Given the description of an element on the screen output the (x, y) to click on. 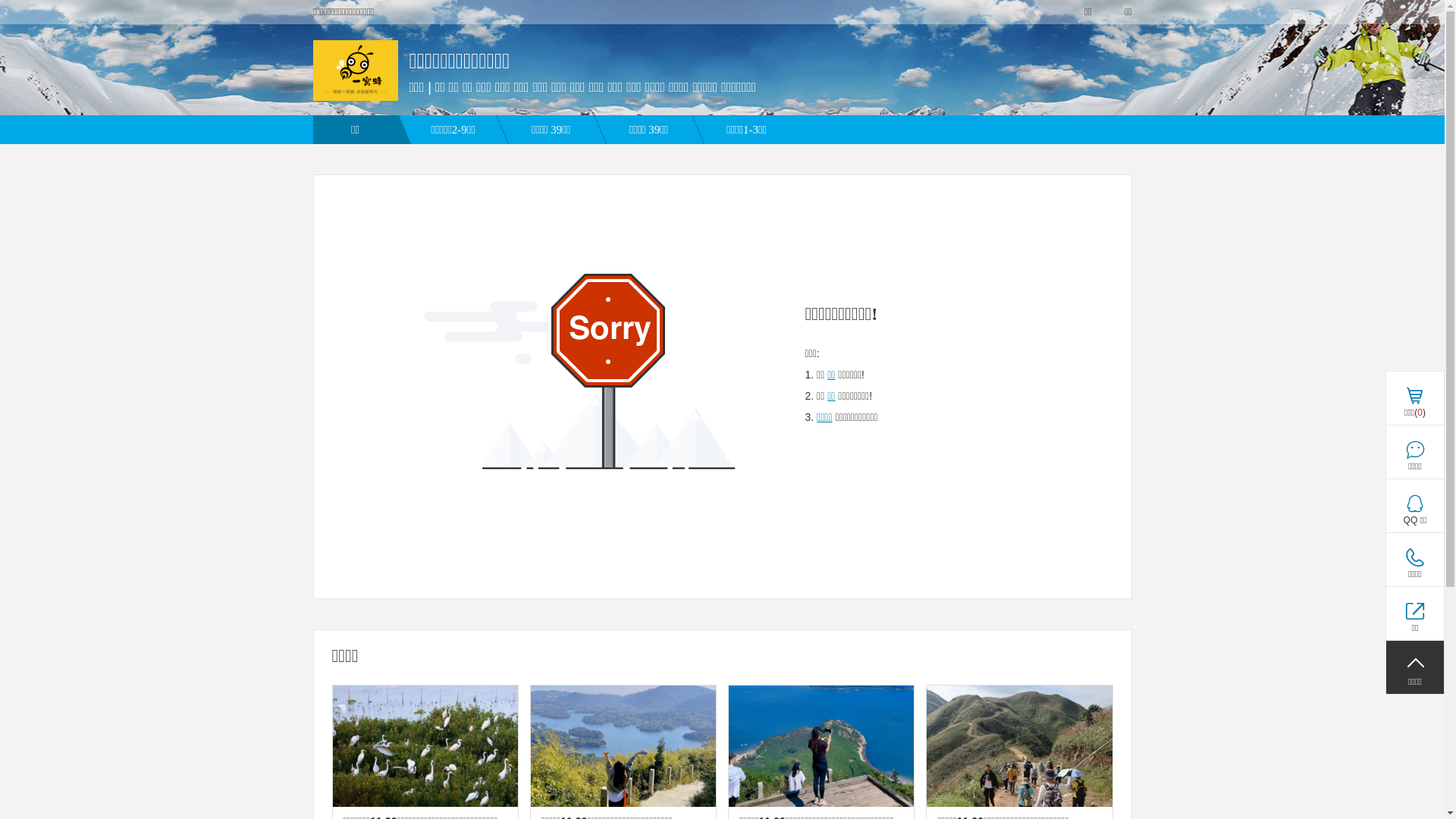
0 Element type: text (1413, 613)
